Given the description of an element on the screen output the (x, y) to click on. 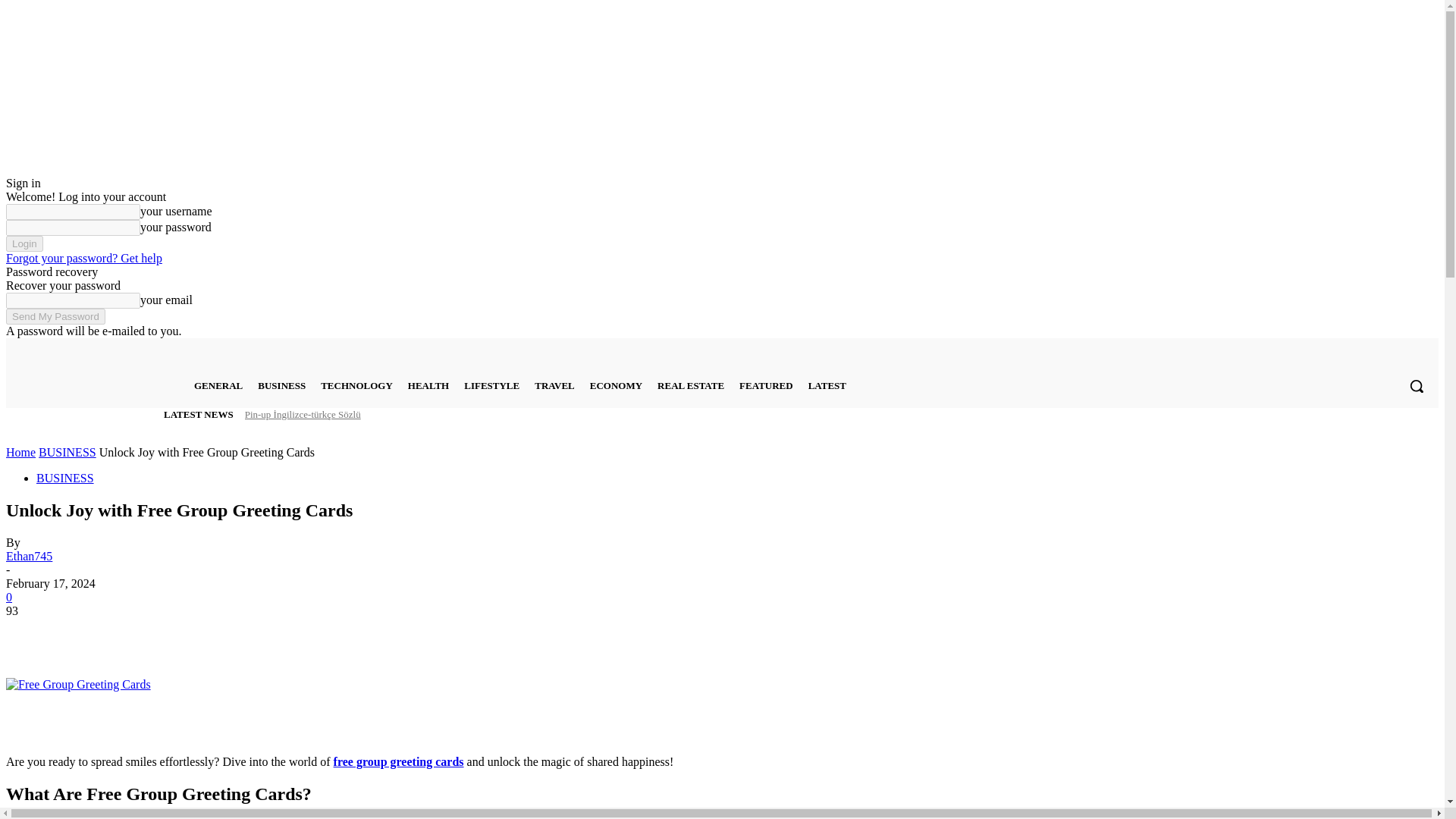
LIFESTYLE (491, 385)
BUSINESS (281, 385)
Login (24, 243)
ECONOMY (615, 385)
GENERAL (217, 385)
TECHNOLOGY (356, 385)
REAL ESTATE (690, 385)
Send My Password (54, 316)
TRAVEL (554, 385)
HEALTH (427, 385)
